Given the description of an element on the screen output the (x, y) to click on. 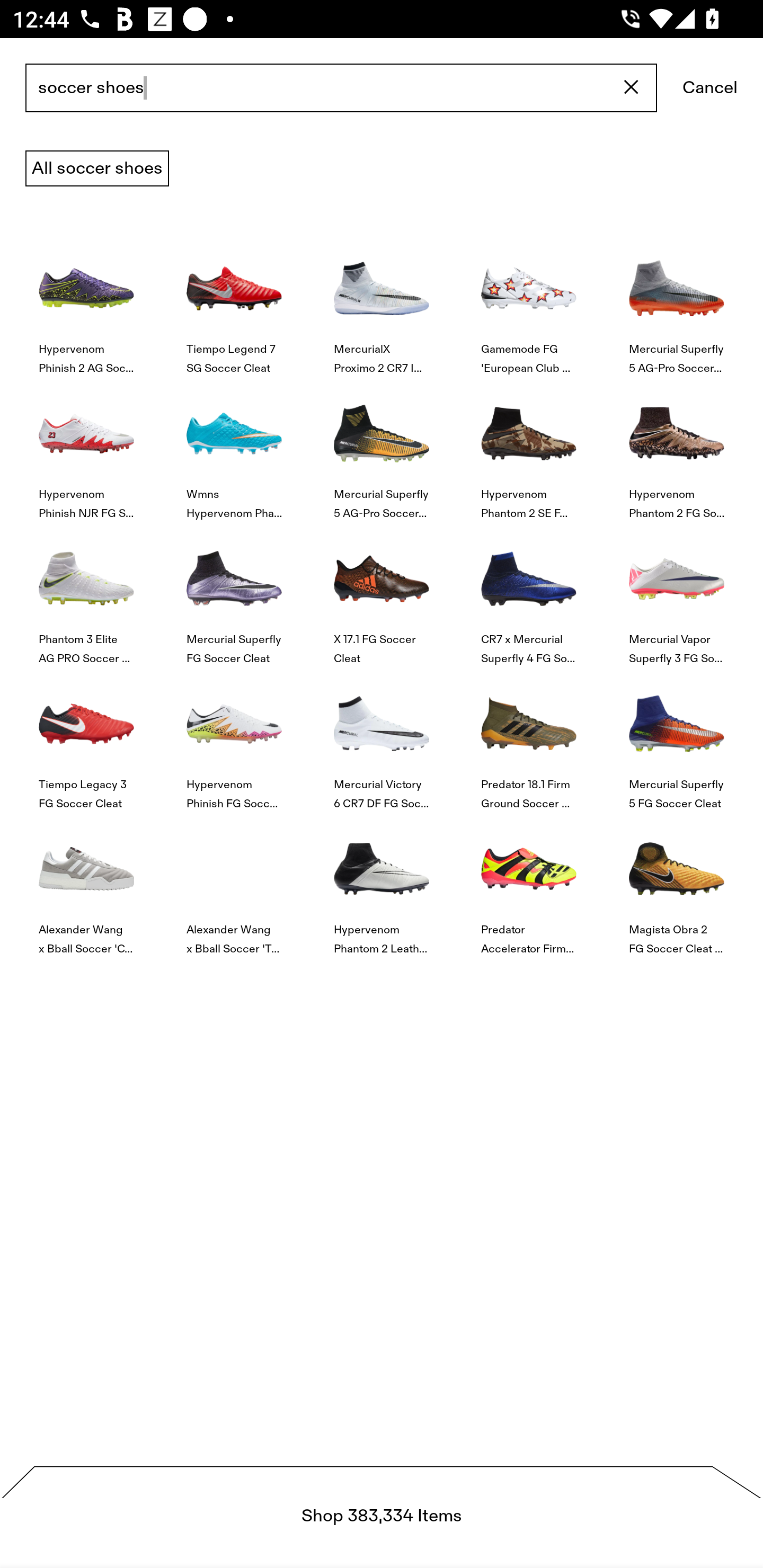
soccer shoes (340, 88)
Cancel (709, 88)
Clear text (631, 87)
All soccer shoes (97, 168)
Hypervenom Phinish 2 AG Soccer Cleat (86, 303)
Tiempo Legend 7 SG Soccer Cleat (233, 303)
MercurialX Proximo 2 CR7 IC GS Soccer Cleat (381, 303)
Gamemode FG 'European Club Soccer Stars' (528, 303)
Mercurial Superfly 5 AG-Pro Soccer Cleat (676, 303)
Hypervenom Phinish NJR FG Soccer Cleat (86, 448)
Wmns Hypervenom Phantom 3 FG Soccer Cleat (233, 448)
Mercurial Superfly 5 AG-Pro Soccer Cleat (381, 448)
Hypervenom Phantom 2 SE FG Soccer Cleat (528, 448)
Phantom 3 Elite AG PRO Soccer Cleat (86, 593)
Mercurial Superfly FG Soccer Cleat (233, 593)
X 17.1 FG Soccer Cleat (381, 593)
Mercurial Vapor Superfly 3 FG Soccer Cleat (676, 593)
Tiempo Legacy 3 FG Soccer Cleat (86, 739)
Hypervenom Phinish FG Soccer Cleat (233, 739)
Mercurial Victory 6 CR7 DF FG Soccer Cleat (381, 739)
Predator 18.1 Firm Ground Soccer Cleat (528, 739)
Mercurial Superfly 5 FG Soccer Cleat (676, 739)
Alexander Wang x Bball Soccer 'Clear Granite' (86, 884)
Alexander Wang x Bball Soccer 'Triple Black' (233, 884)
Hypervenom Phantom 2 Leather FG Soccer Cleat (381, 884)
Predator Accelerator Firm Ground Soccer Cleat (528, 884)
Shop 383,334 Items (381, 1517)
